Given the description of an element on the screen output the (x, y) to click on. 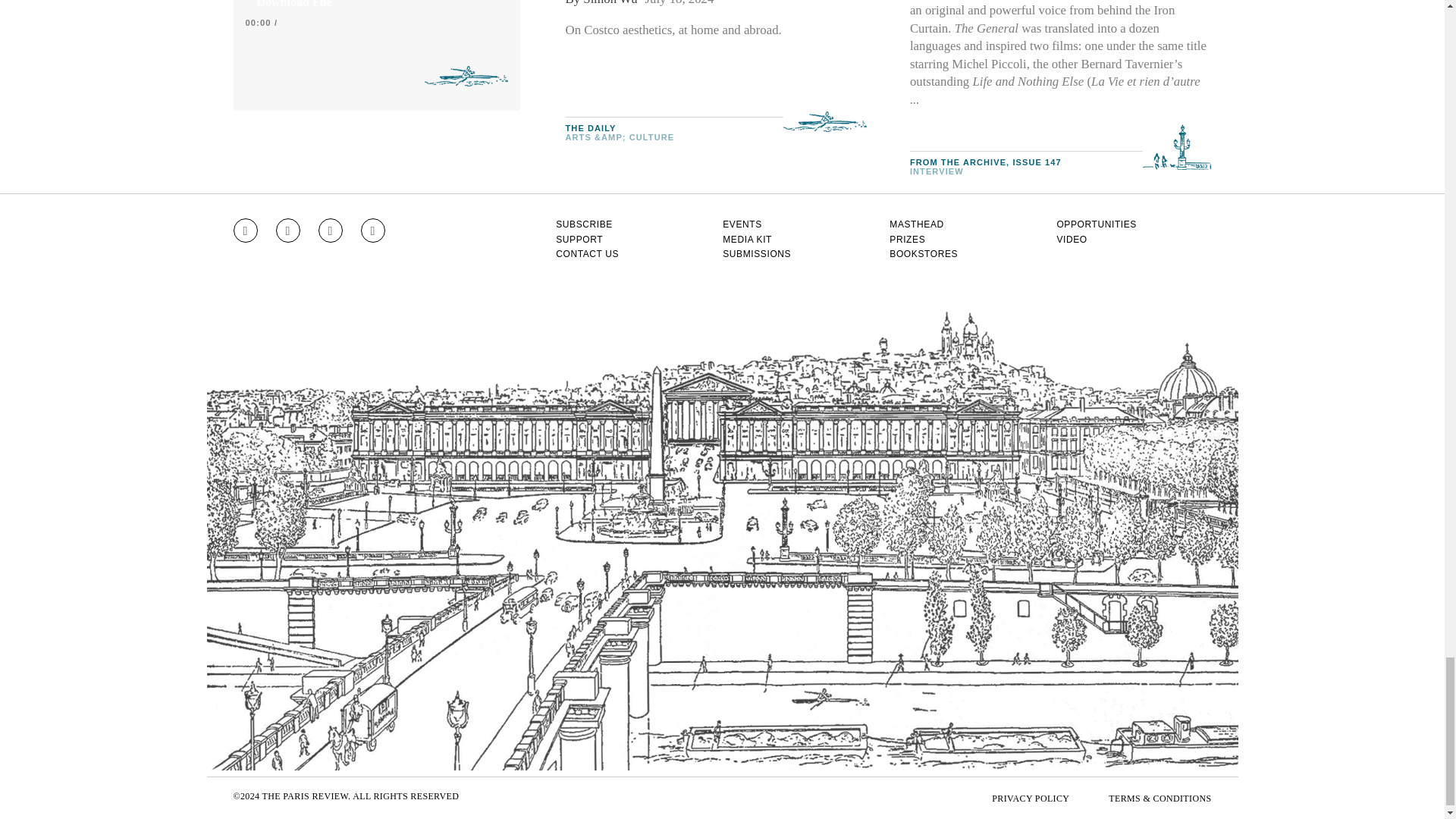
Go to RSS feed (373, 230)
Go to Instagram feed (244, 230)
Go to Twitter feed (330, 230)
Go to Facebook page (287, 230)
